Given the description of an element on the screen output the (x, y) to click on. 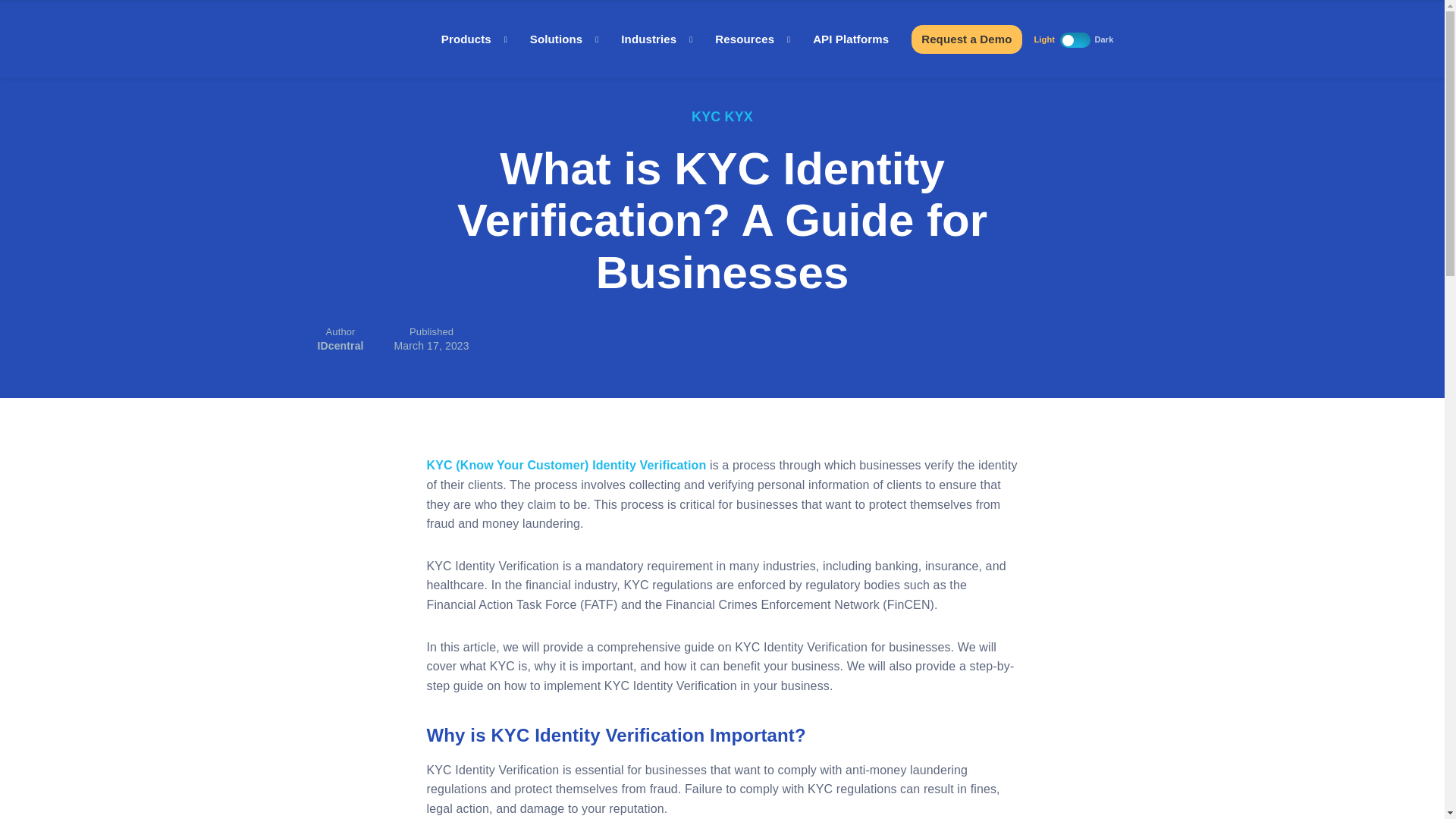
Solutions (563, 38)
API Platforms (850, 38)
Resources (752, 38)
Request a Demo (966, 38)
Industries (657, 38)
Products (473, 38)
Posts by IDcentral (339, 345)
